Given the description of an element on the screen output the (x, y) to click on. 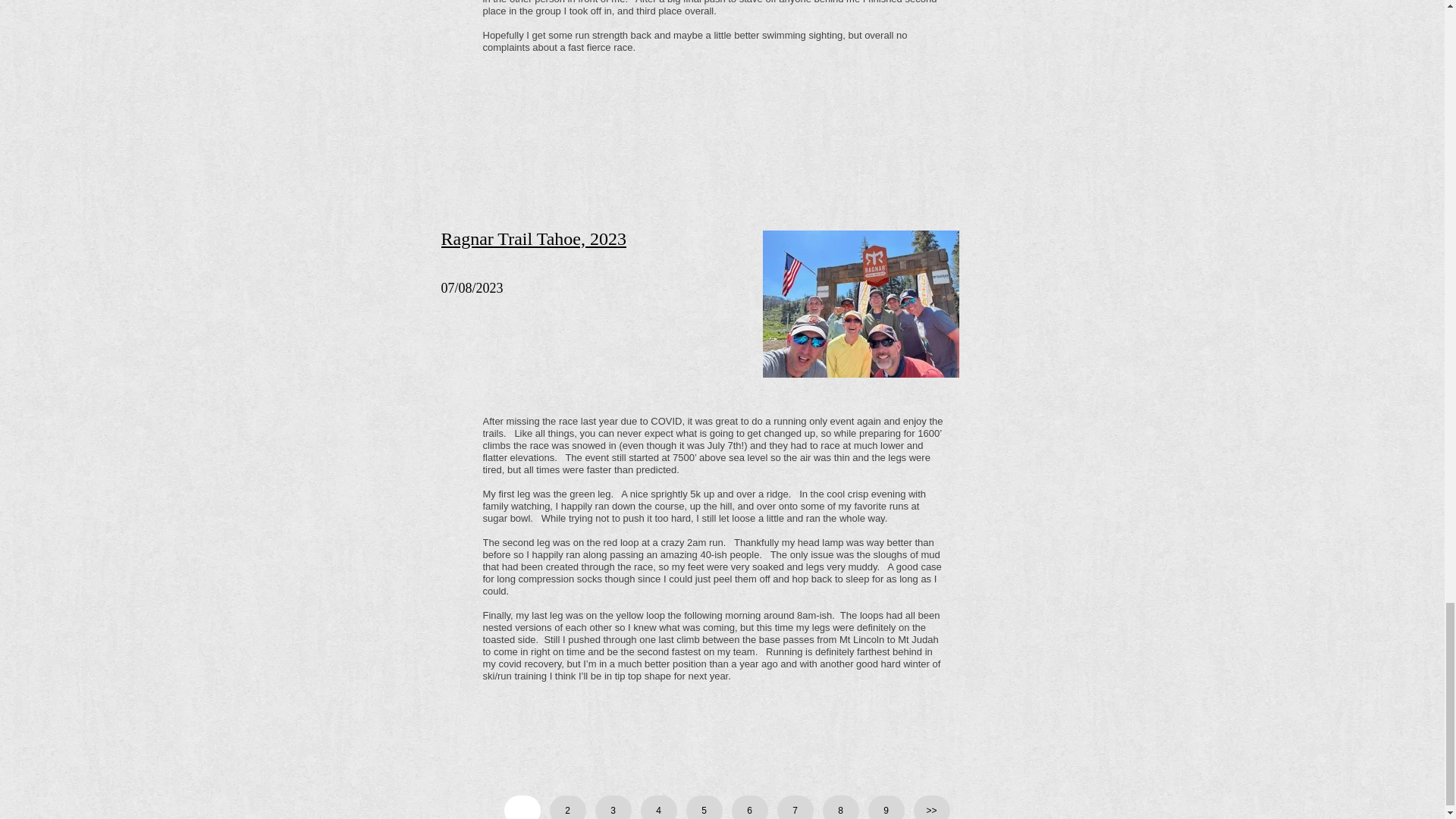
Ragnar Trail Tahoe, 2023 (534, 238)
